Given the description of an element on the screen output the (x, y) to click on. 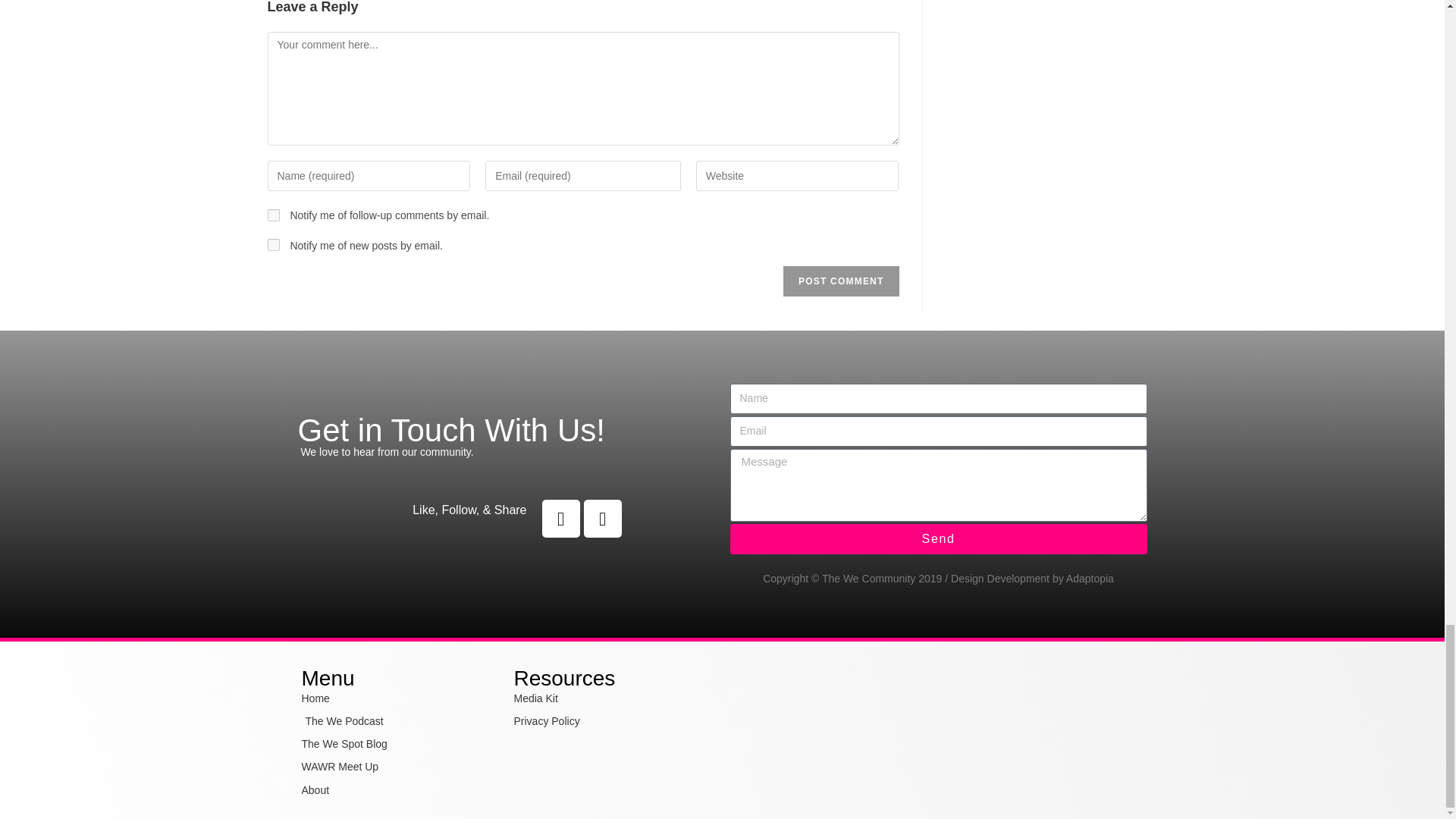
Post Comment (840, 281)
subscribe (272, 215)
subscribe (272, 244)
